Given the description of an element on the screen output the (x, y) to click on. 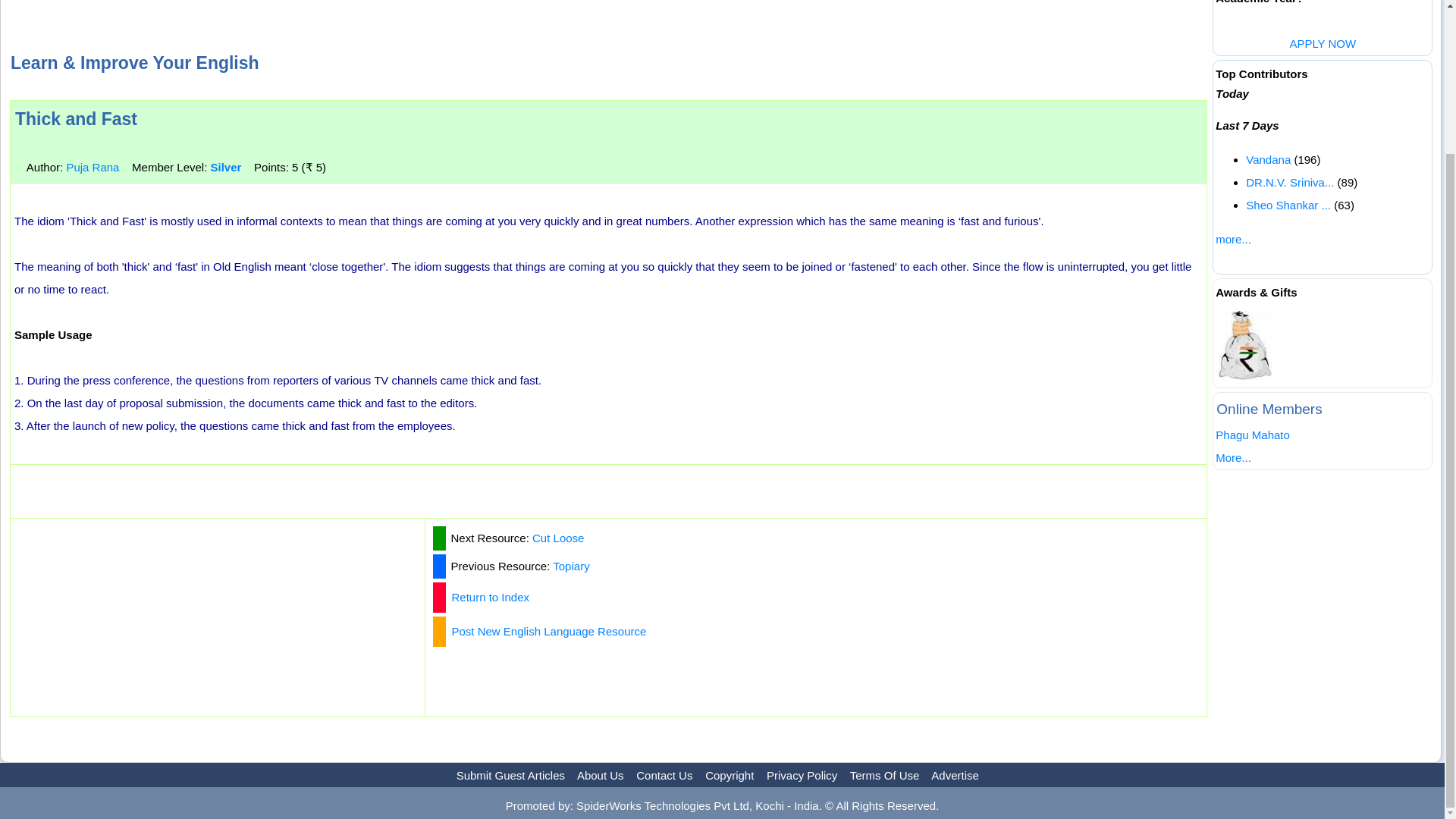
Submit Guest Articles (510, 775)
Phagu Mahato (1252, 434)
Topiary (571, 565)
Cut Loose (557, 537)
Return to Index (490, 596)
Silver (225, 166)
More... (1232, 457)
Sheo Shankar ... (1288, 204)
Vandana (1268, 158)
Puja Rana (92, 166)
